Given the description of an element on the screen output the (x, y) to click on. 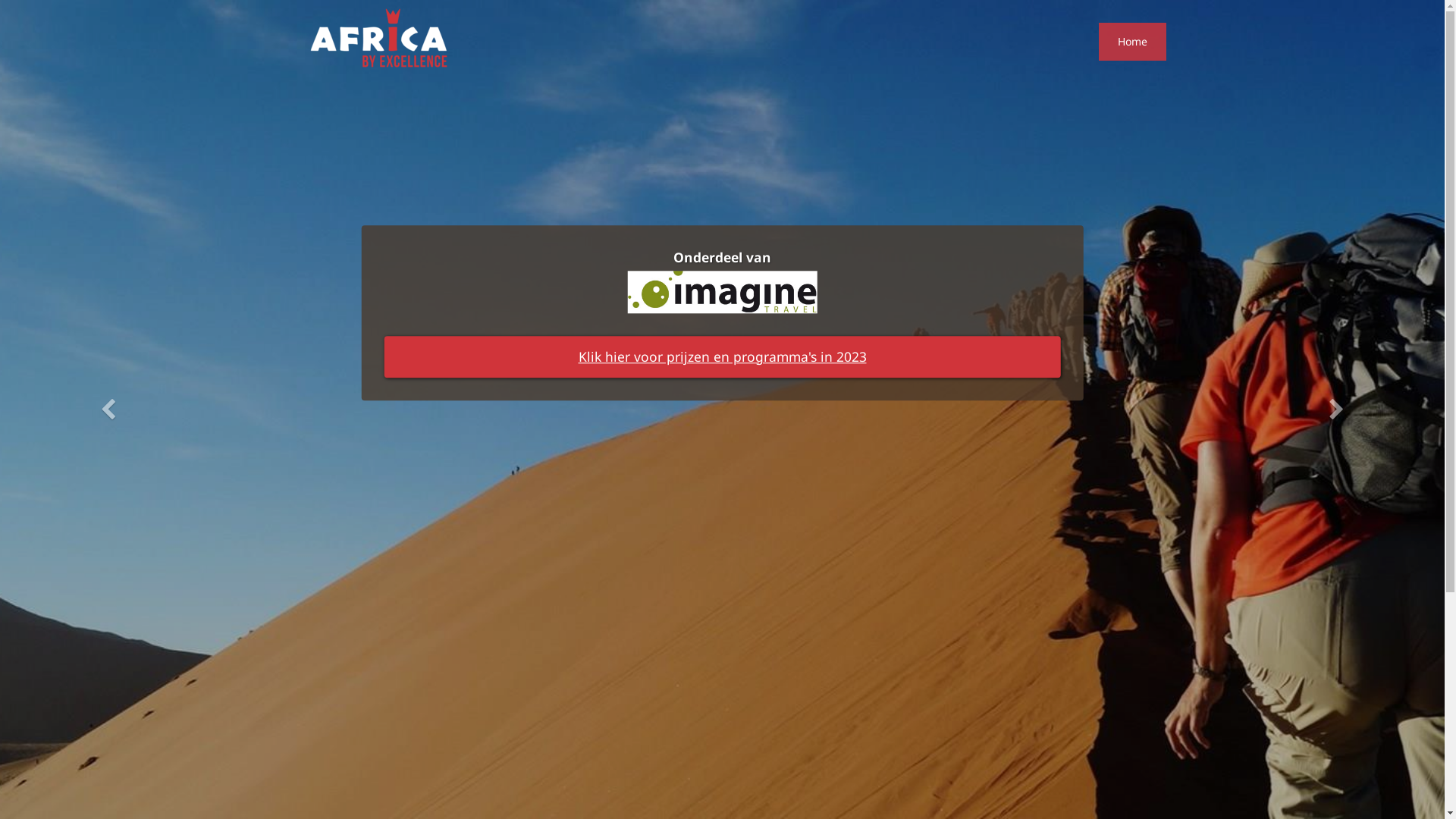
Home Element type: text (1131, 41)
Klik hier voor prijzen en programma's in 2023 Element type: text (721, 356)
